Given the description of an element on the screen output the (x, y) to click on. 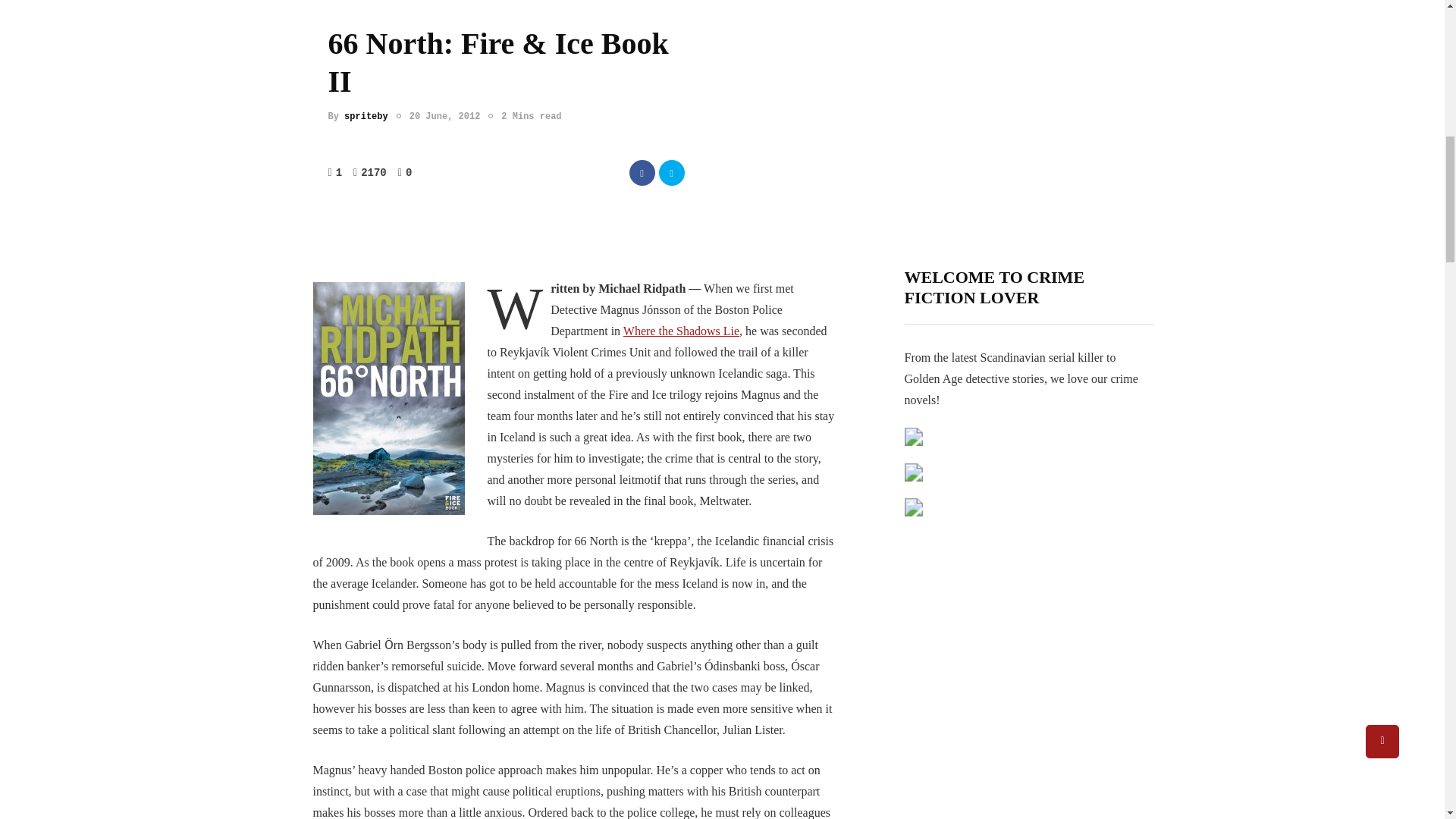
Posts by spriteby (365, 116)
Tweet this (671, 172)
Where the Shadows Lie (681, 330)
spriteby (365, 116)
Share with Facebook (641, 172)
